Given the description of an element on the screen output the (x, y) to click on. 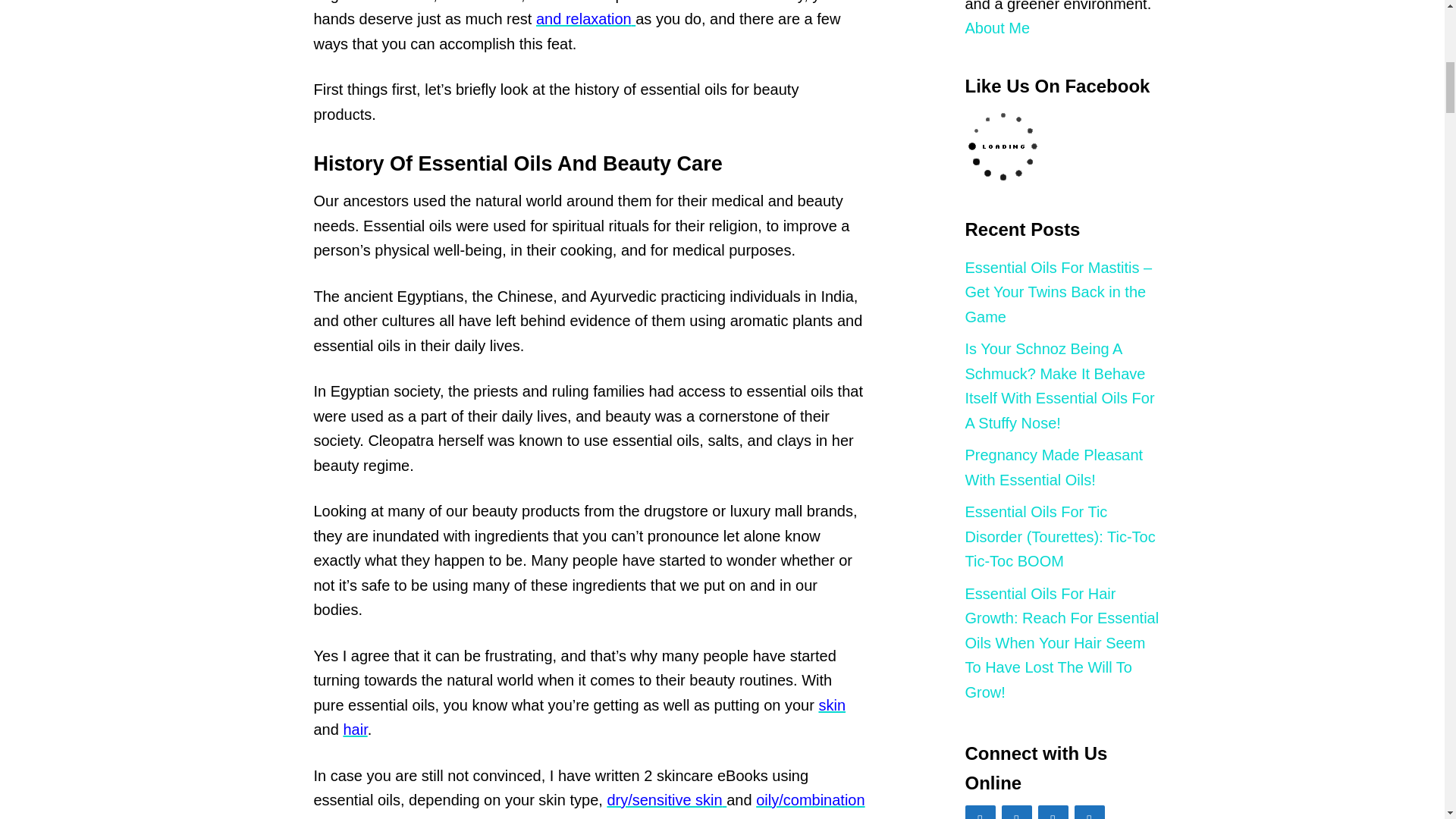
Pinterest (1051, 812)
Twitter (1015, 812)
skin (831, 704)
and relaxation (584, 18)
Facebook (978, 812)
hair (354, 729)
